Given the description of an element on the screen output the (x, y) to click on. 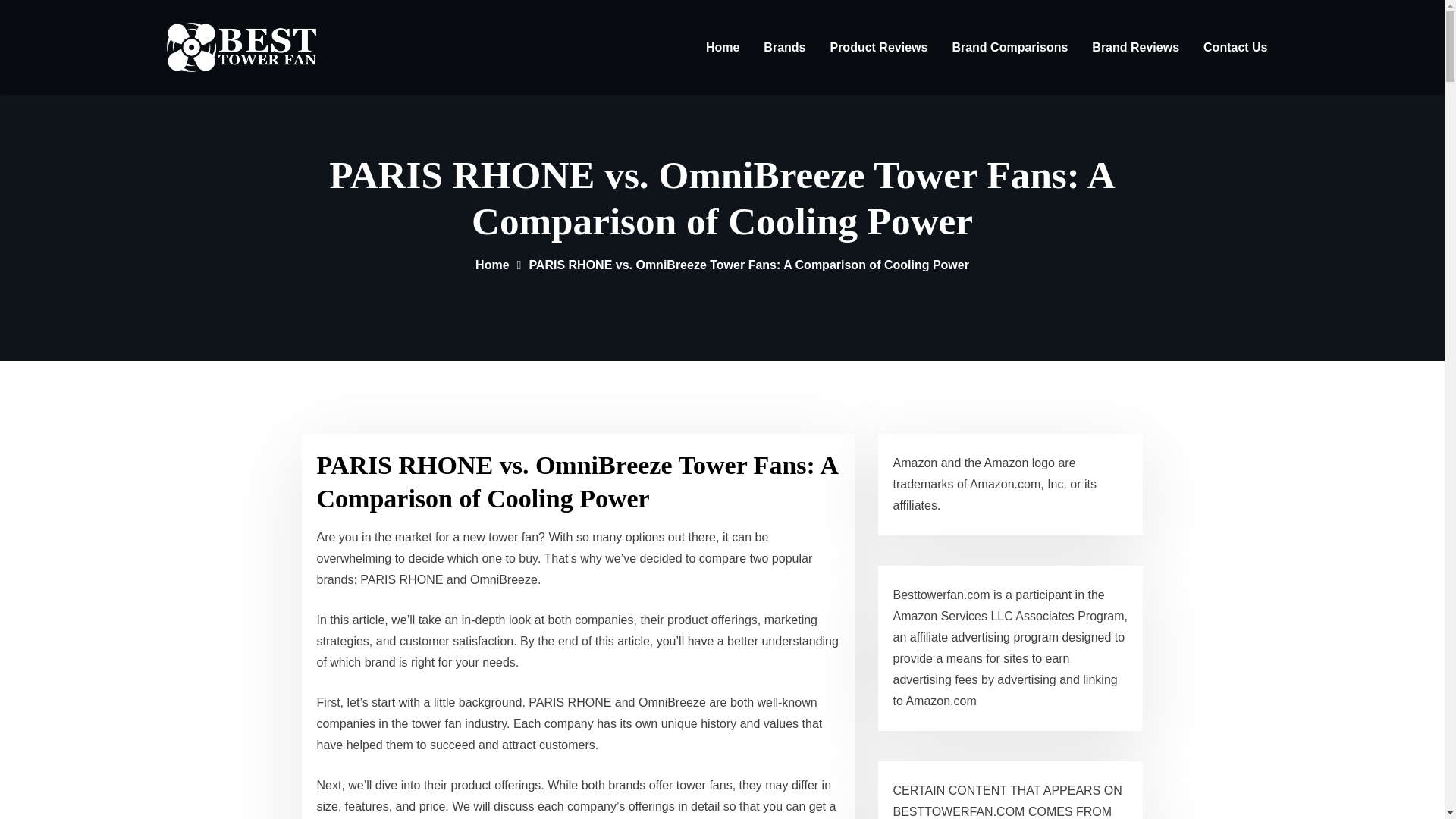
Brand Reviews (1135, 47)
Home (492, 264)
Brand Comparisons (1009, 47)
Product Reviews (877, 47)
Contact Us (1235, 47)
